Given the description of an element on the screen output the (x, y) to click on. 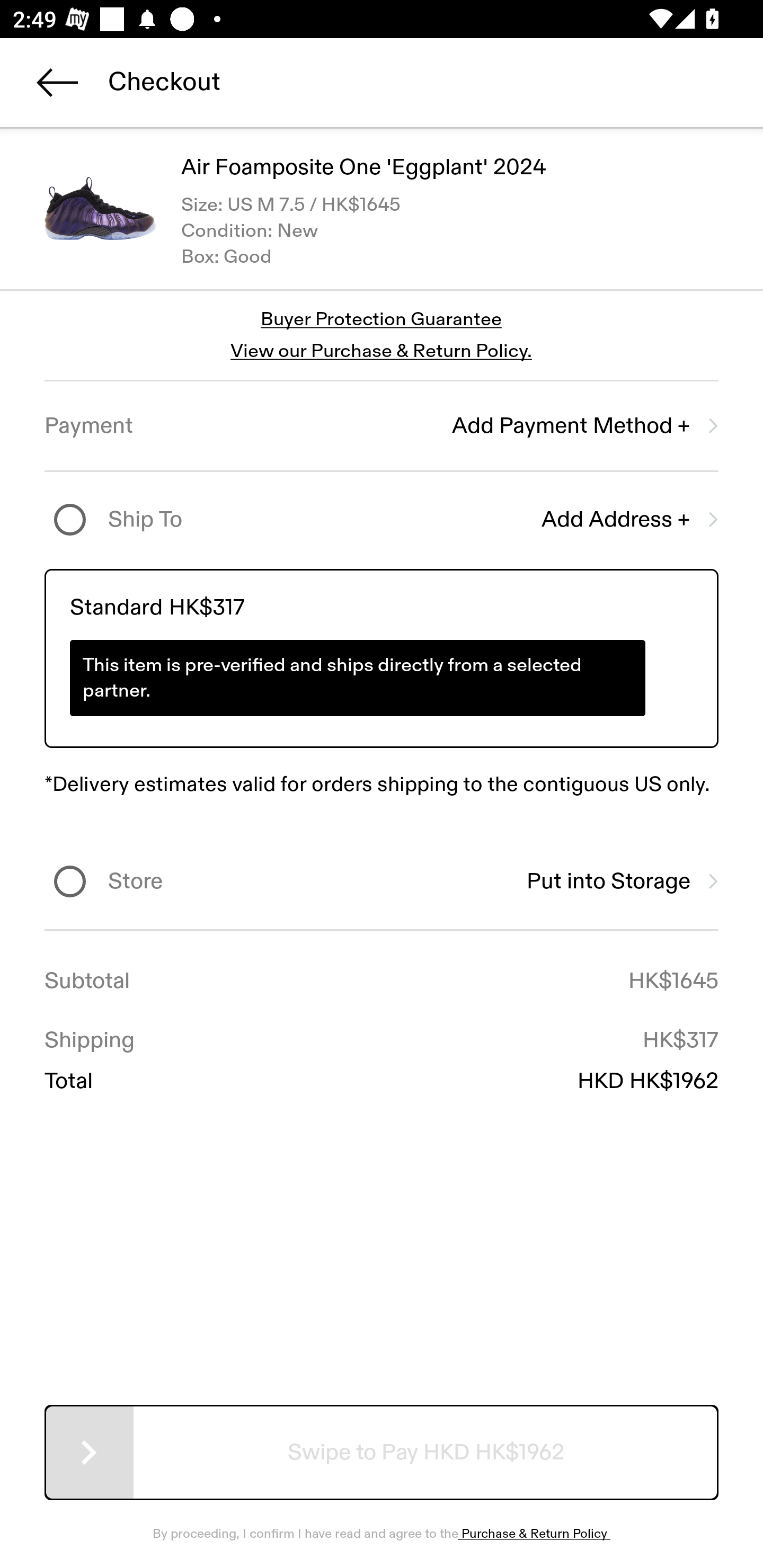
Navigate up (56, 82)
Buyer Protection Guarantee (381, 319)
View our Purchase & Return Policy. (380, 350)
Payment Add Payment Method + (381, 425)
